Given the description of an element on the screen output the (x, y) to click on. 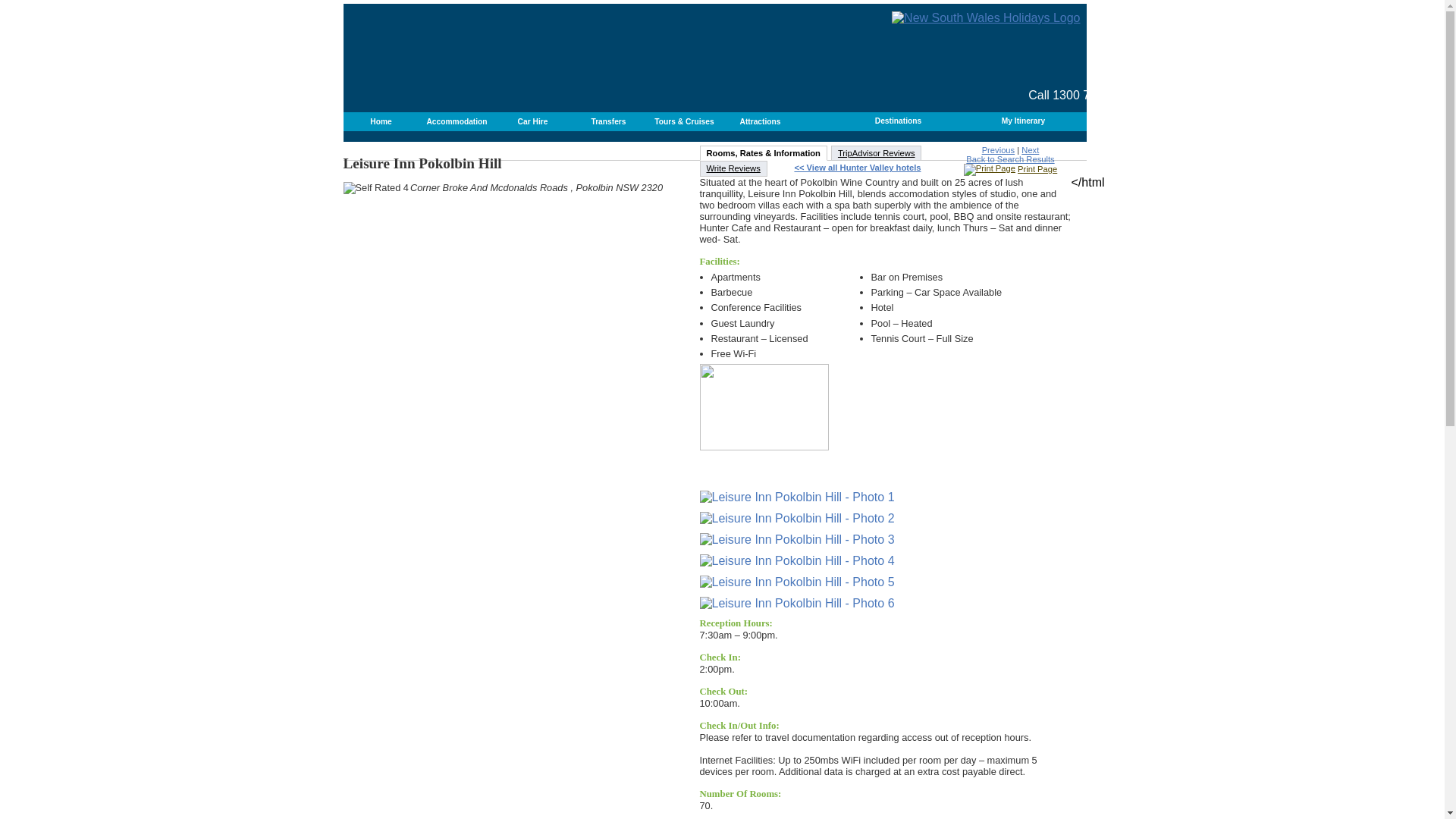
Self Rated 4 Element type: hover (374, 188)
Transfers Element type: text (608, 120)
My Itinerary Element type: text (1023, 120)
Rooms, Rates & Information Element type: text (762, 152)
Tours & Cruises Element type: text (683, 120)
Destinations Element type: text (897, 120)
Previous Element type: text (998, 149)
Accommodation Element type: text (456, 120)
Car Hire Element type: text (532, 120)
Home Element type: text (380, 120)
<< View all Hunter Valley hotels Element type: text (856, 167)
Attractions Element type: text (759, 120)
Print Page Element type: text (1010, 168)
Next Element type: text (1029, 149)
Back to Search Results Element type: text (1010, 158)
Write Reviews Element type: text (732, 167)
Call 1300 737 222 Element type: text (1077, 94)
TripAdvisor Reviews Element type: text (876, 152)
